Given the description of an element on the screen output the (x, y) to click on. 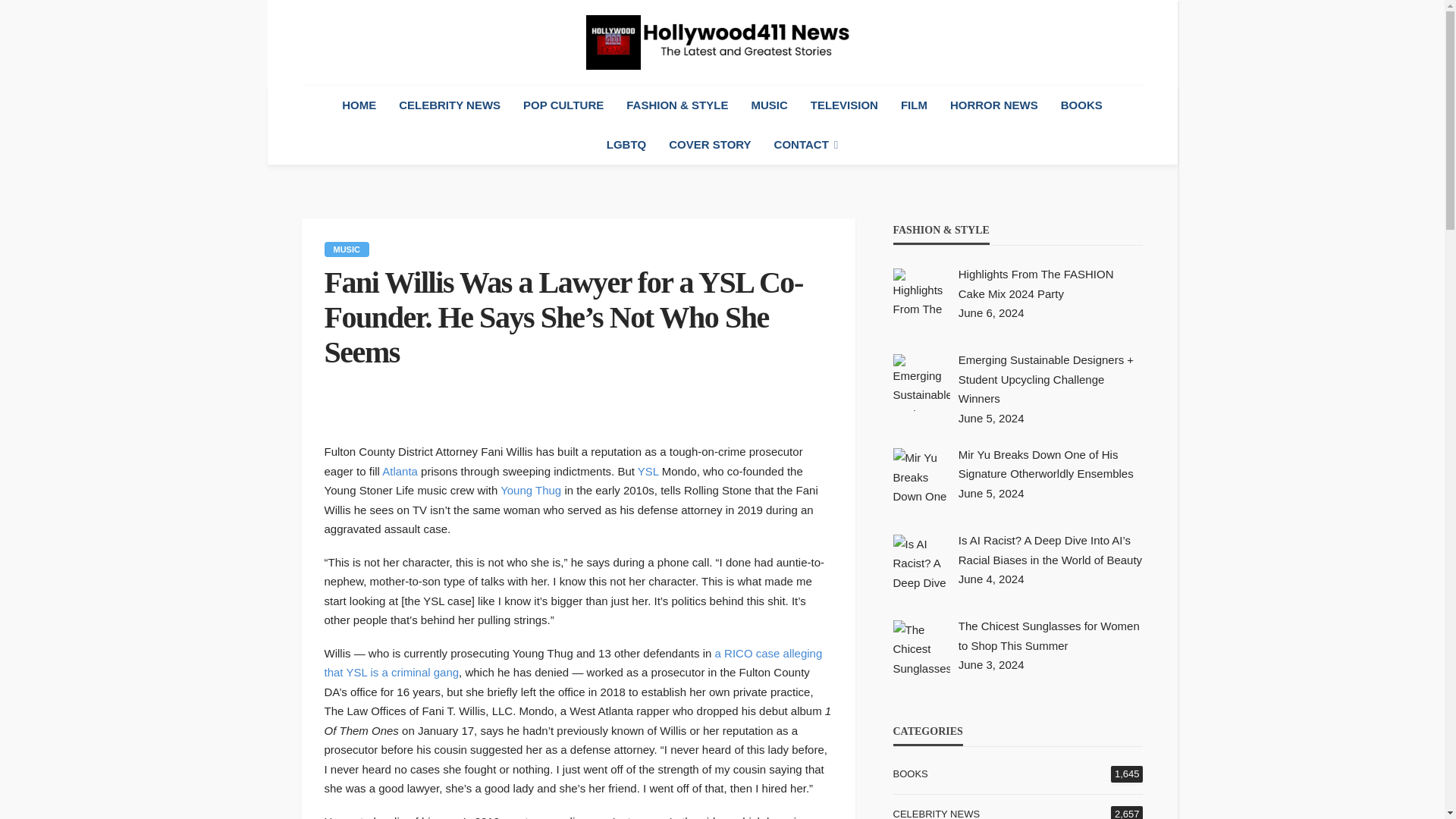
MUSIC (768, 105)
FILM (914, 105)
MUSIC (346, 249)
Music (346, 249)
POP CULTURE (563, 105)
LGBTQ (626, 144)
TELEVISION (844, 105)
BOOKS (1081, 105)
COVER STORY (709, 144)
CONTACT (806, 144)
HOME (358, 105)
Hollywood411 News (722, 42)
CELEBRITY NEWS (449, 105)
HORROR NEWS (994, 105)
Atlanta (399, 470)
